Given the description of an element on the screen output the (x, y) to click on. 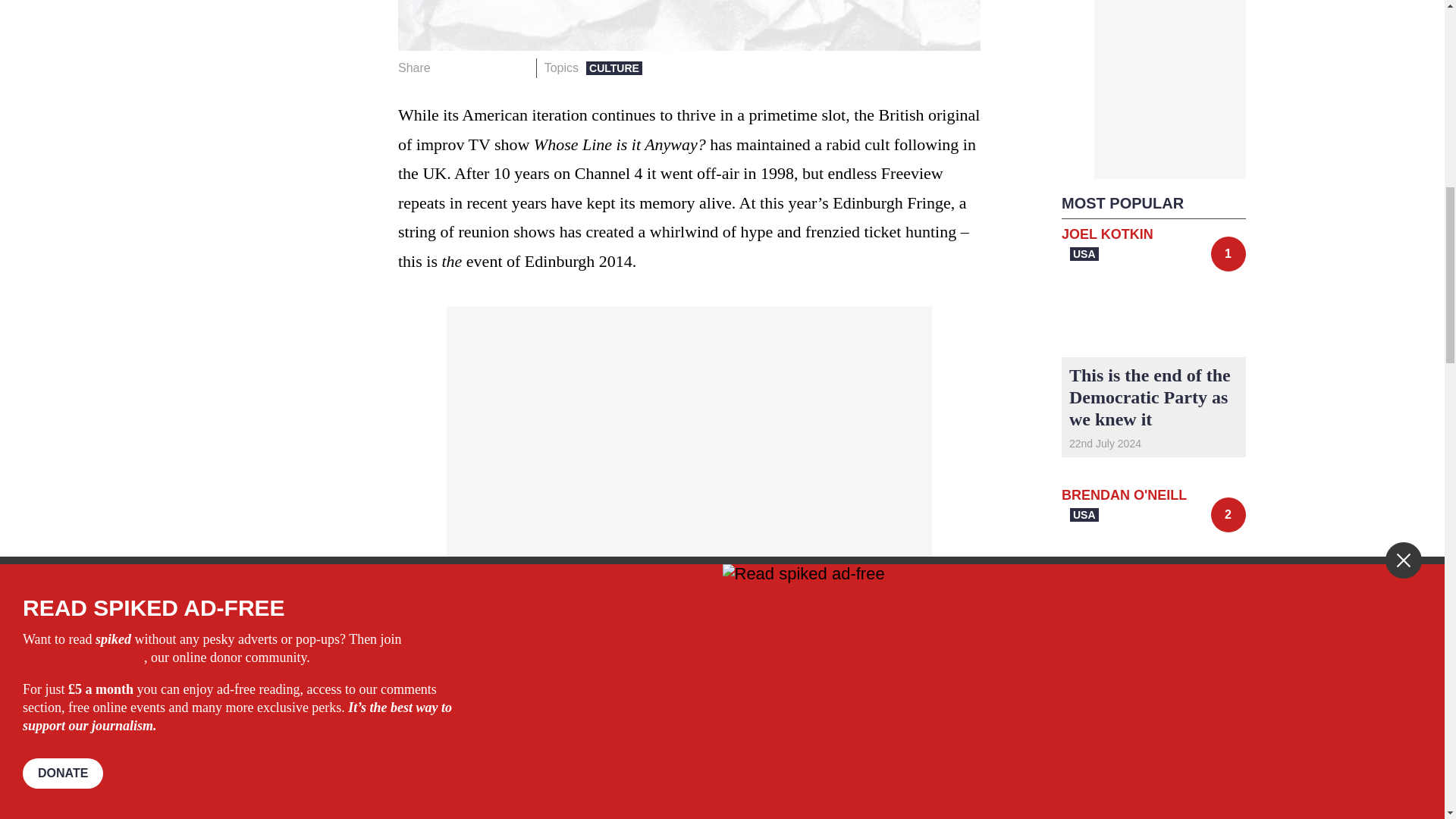
Share on Twitter (471, 67)
Share on Email (518, 67)
Share on Whatsapp (494, 67)
Share on Facebook (448, 67)
